Given the description of an element on the screen output the (x, y) to click on. 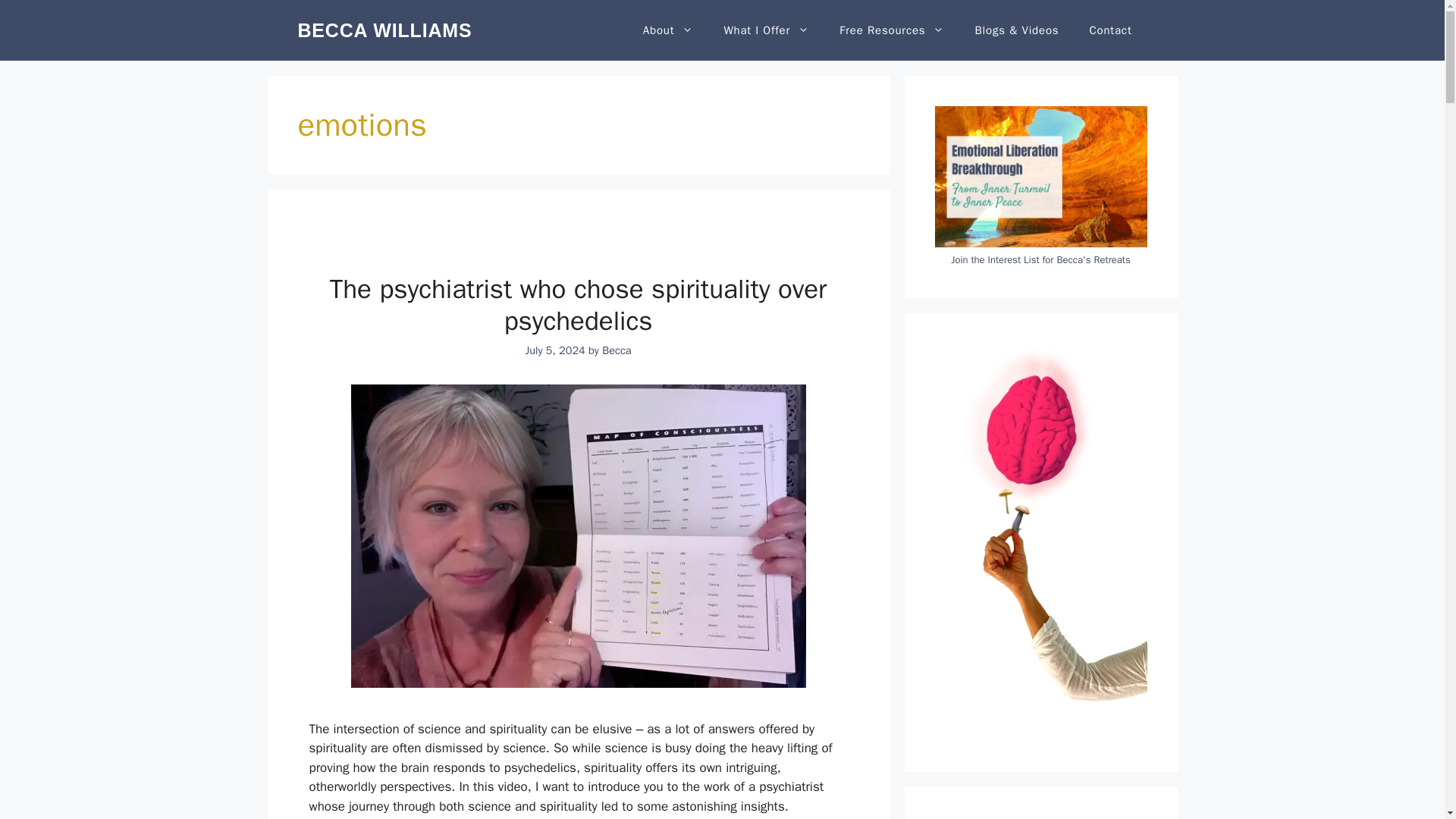
Contact (1110, 30)
The psychiatrist who chose spirituality over psychedelics (578, 304)
What I Offer (765, 30)
View all posts by Becca (616, 350)
Becca (616, 350)
Free Resources (891, 30)
BECCA WILLIAMS (384, 30)
About (668, 30)
